Given the description of an element on the screen output the (x, y) to click on. 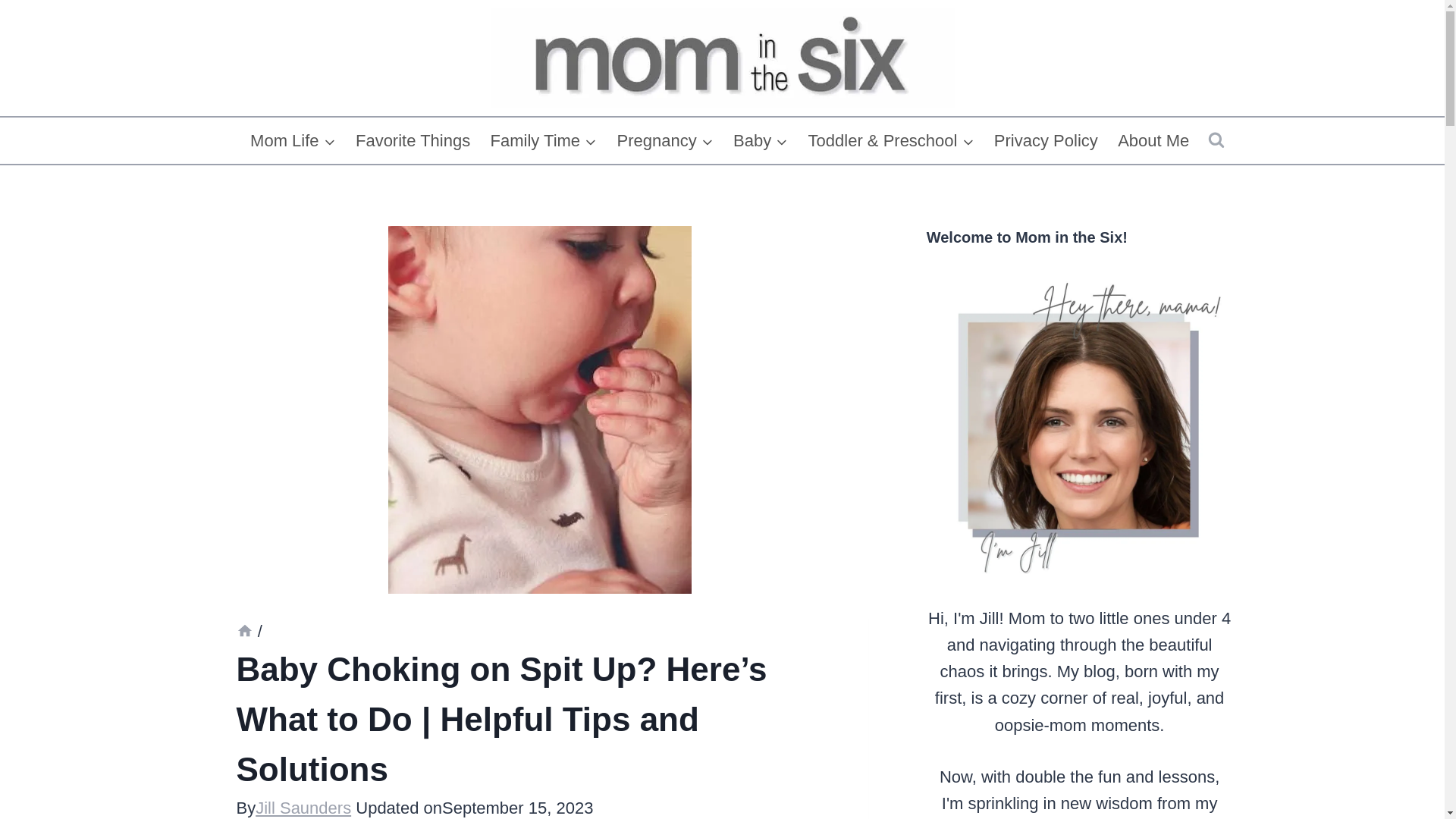
About Me (1153, 140)
Jill Saunders (303, 807)
Baby (760, 140)
Mom Life (293, 140)
Favorite Things (413, 140)
Family Time (543, 140)
Privacy Policy (1046, 140)
Pregnancy (665, 140)
